Given the description of an element on the screen output the (x, y) to click on. 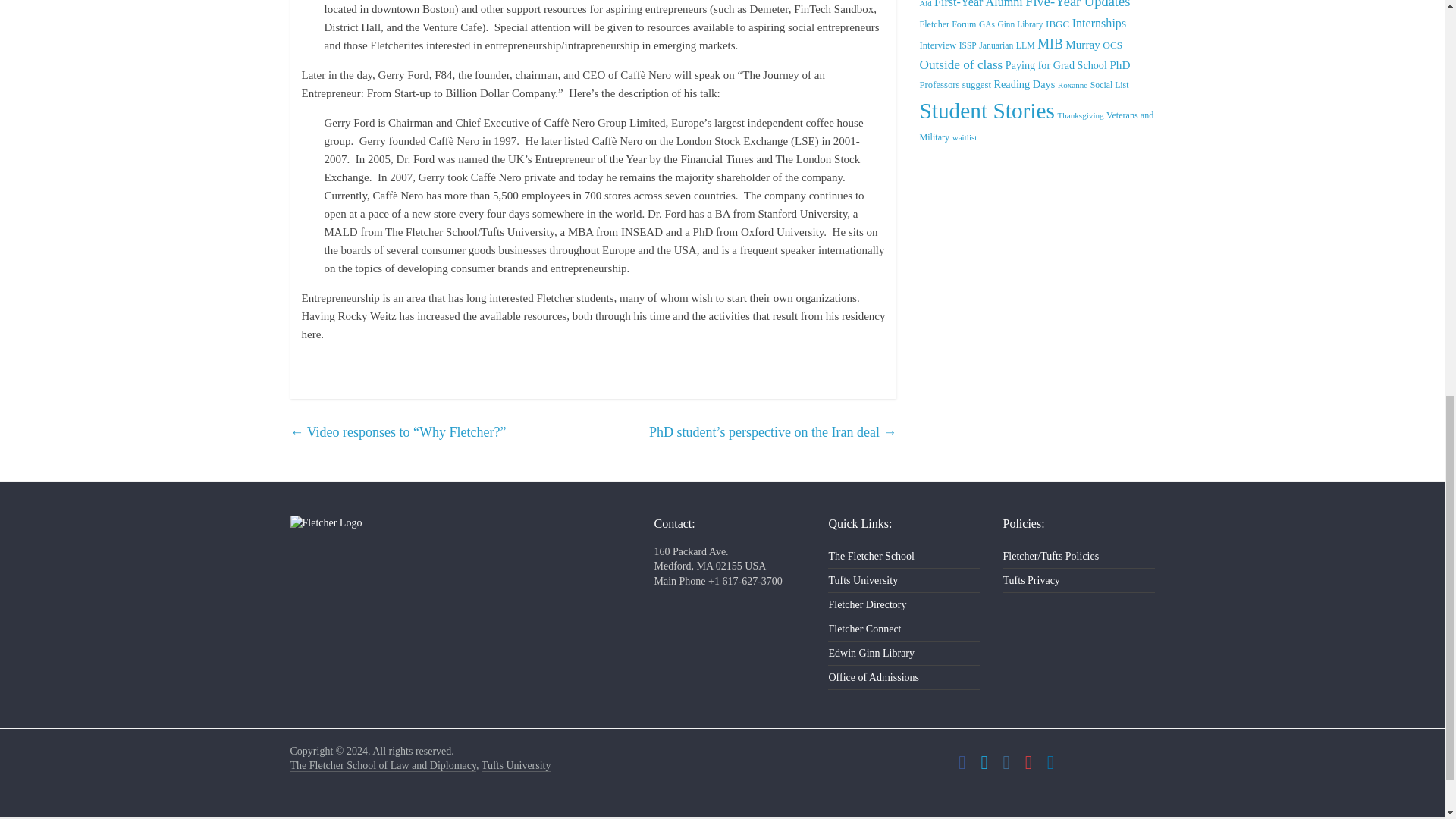
The Fletcher School (382, 766)
Tufts University (516, 766)
